Given the description of an element on the screen output the (x, y) to click on. 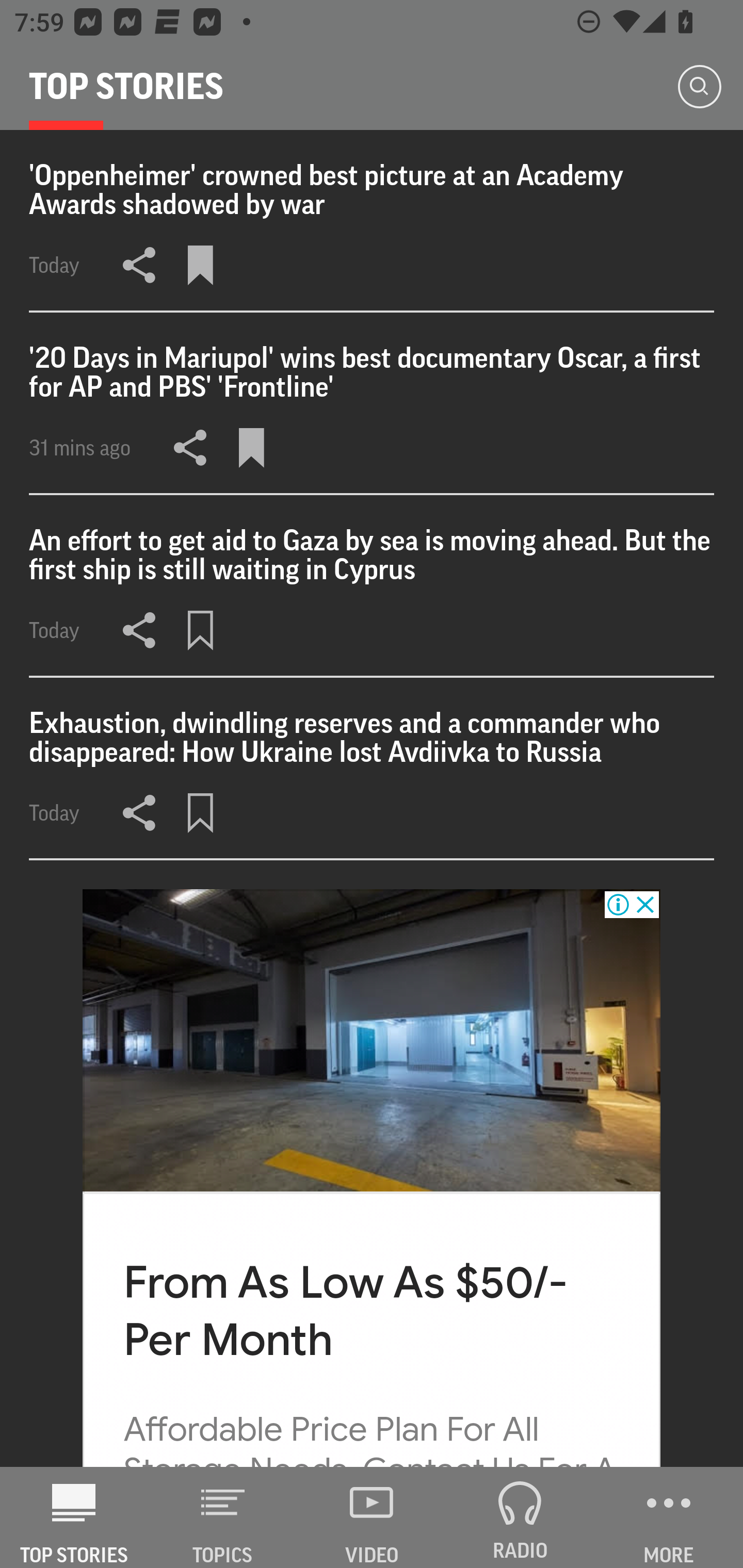
AP News TOP STORIES (74, 1517)
TOPICS (222, 1517)
VIDEO (371, 1517)
RADIO (519, 1517)
MORE (668, 1517)
